Given the description of an element on the screen output the (x, y) to click on. 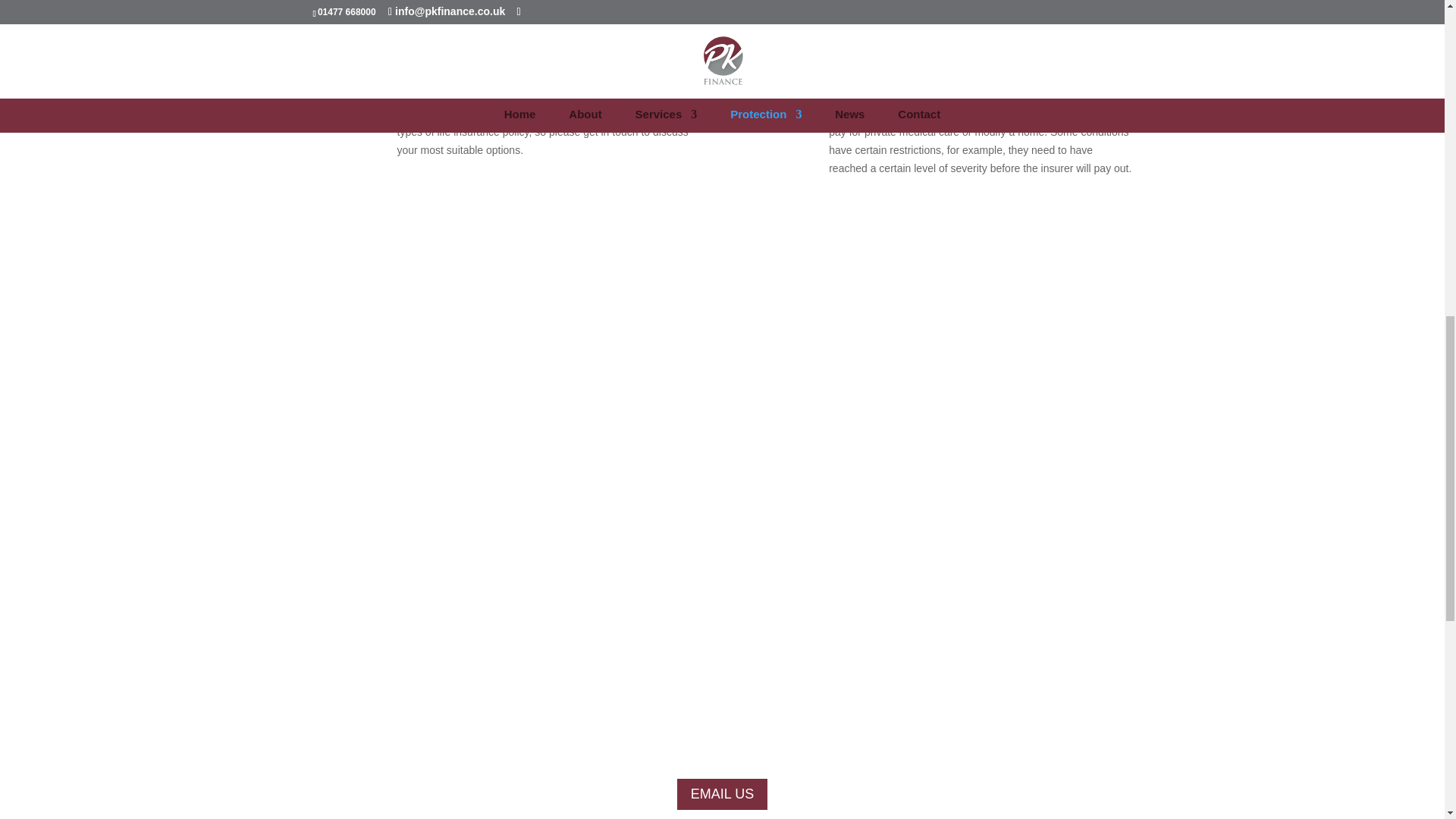
EMAIL US (722, 794)
